Given the description of an element on the screen output the (x, y) to click on. 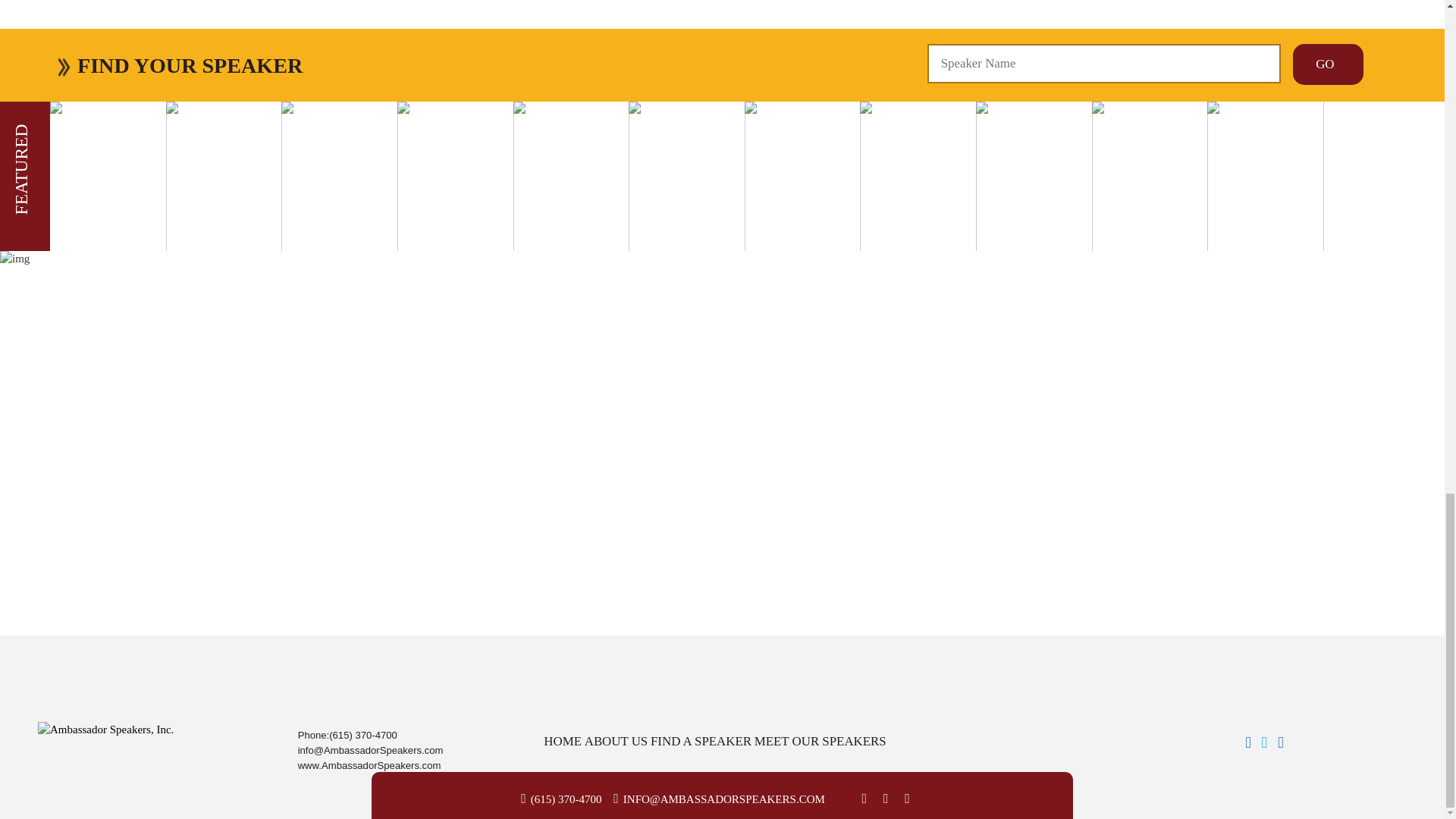
Annette Sosa-Rodriguez (109, 0)
Ambassador Speakers, Inc. (105, 729)
GO (1327, 64)
FEATURED (56, 134)
